Given the description of an element on the screen output the (x, y) to click on. 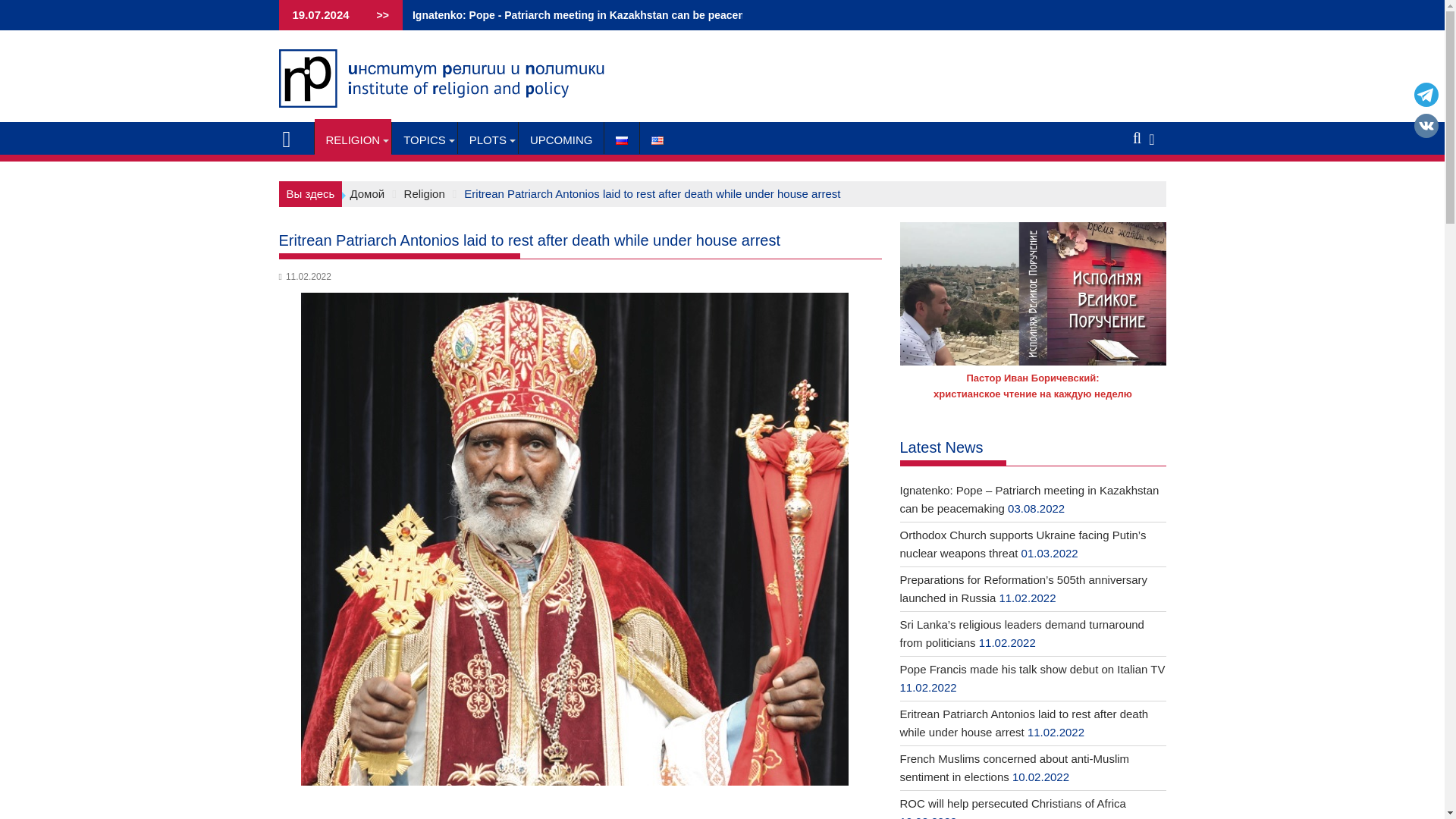
Pope Francis made his talk show debut on Italian TV (216, 15)
PLOTS (488, 140)
TOPICS (424, 140)
Pope Francis made his talk show debut on Italian TV (216, 15)
VK (1425, 124)
RELIGION (352, 140)
Telegram (1425, 93)
